Given the description of an element on the screen output the (x, y) to click on. 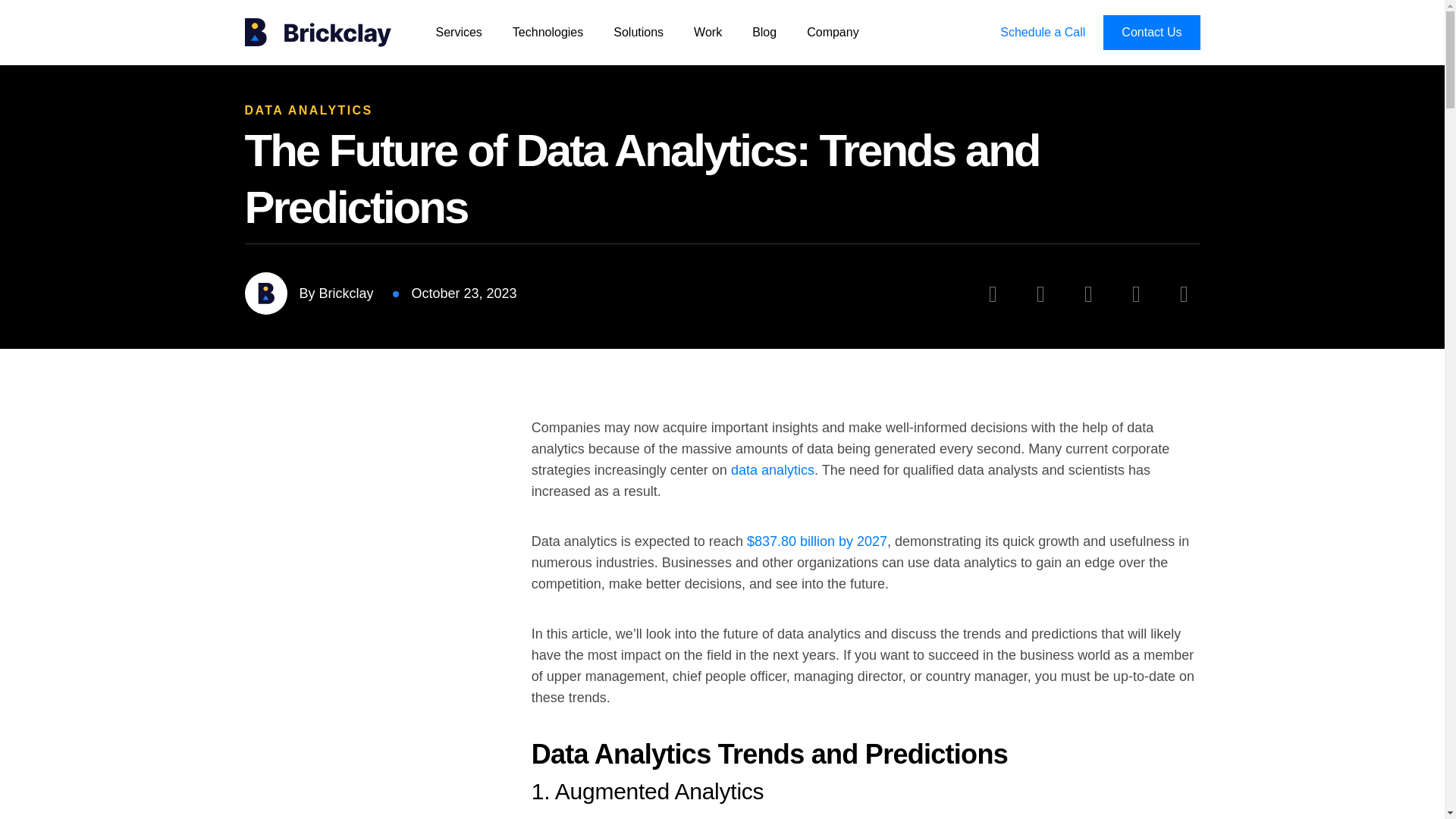
Solutions (637, 32)
Services (458, 32)
Company (832, 32)
Technologies (547, 32)
Brickclay (319, 32)
